Given the description of an element on the screen output the (x, y) to click on. 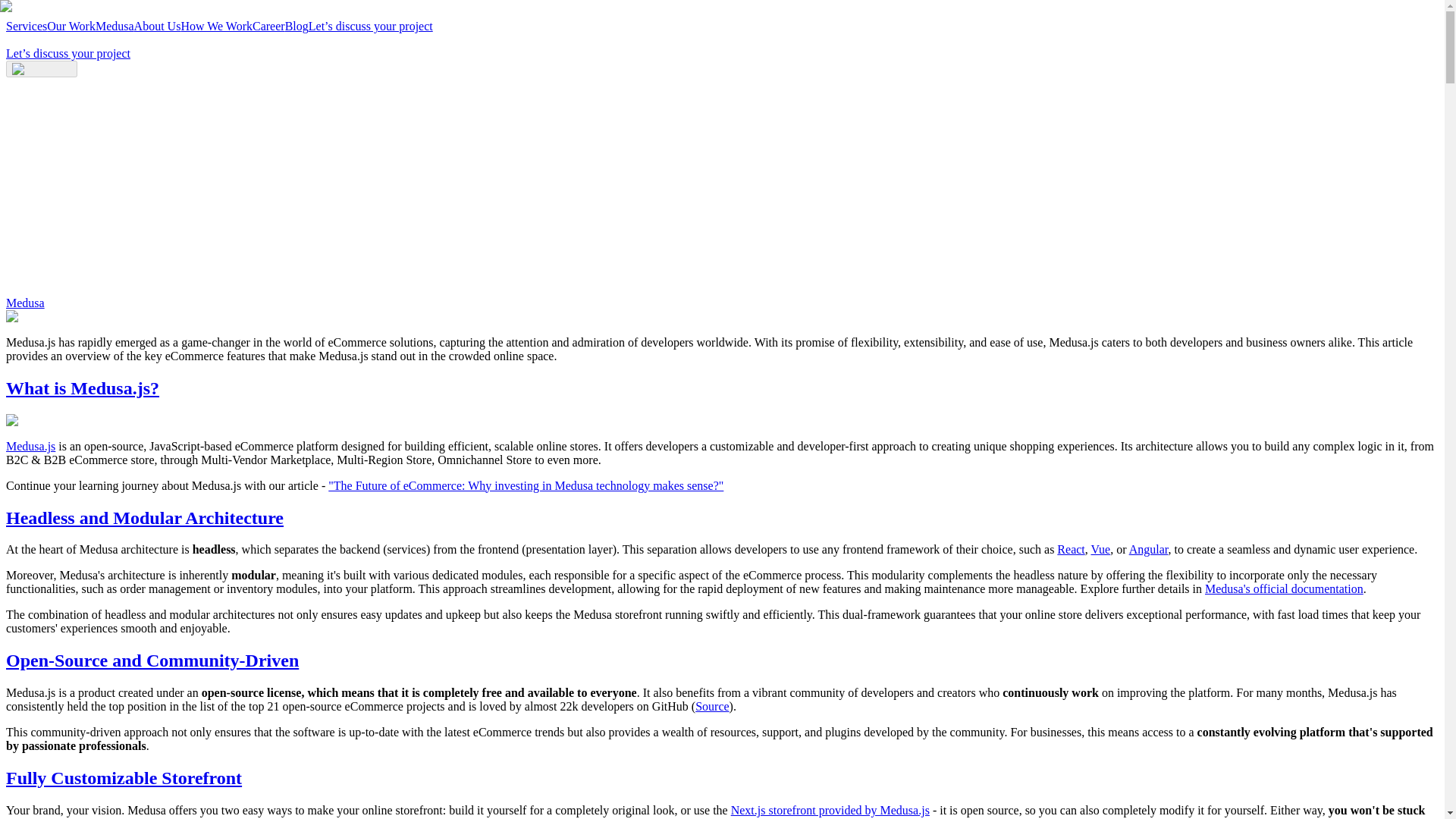
Medusa (114, 25)
Next.js storefront provided by Medusa.js (830, 809)
Medusa's official documentation (1283, 588)
Career (268, 25)
Fully Customizable Storefront (123, 777)
Services (25, 25)
Vue (1099, 549)
React (1070, 549)
Angular (1149, 549)
What is Medusa.js? (81, 388)
Headless and Modular Architecture (144, 517)
Source (712, 706)
About Us (156, 25)
Our Work (71, 25)
